Given the description of an element on the screen output the (x, y) to click on. 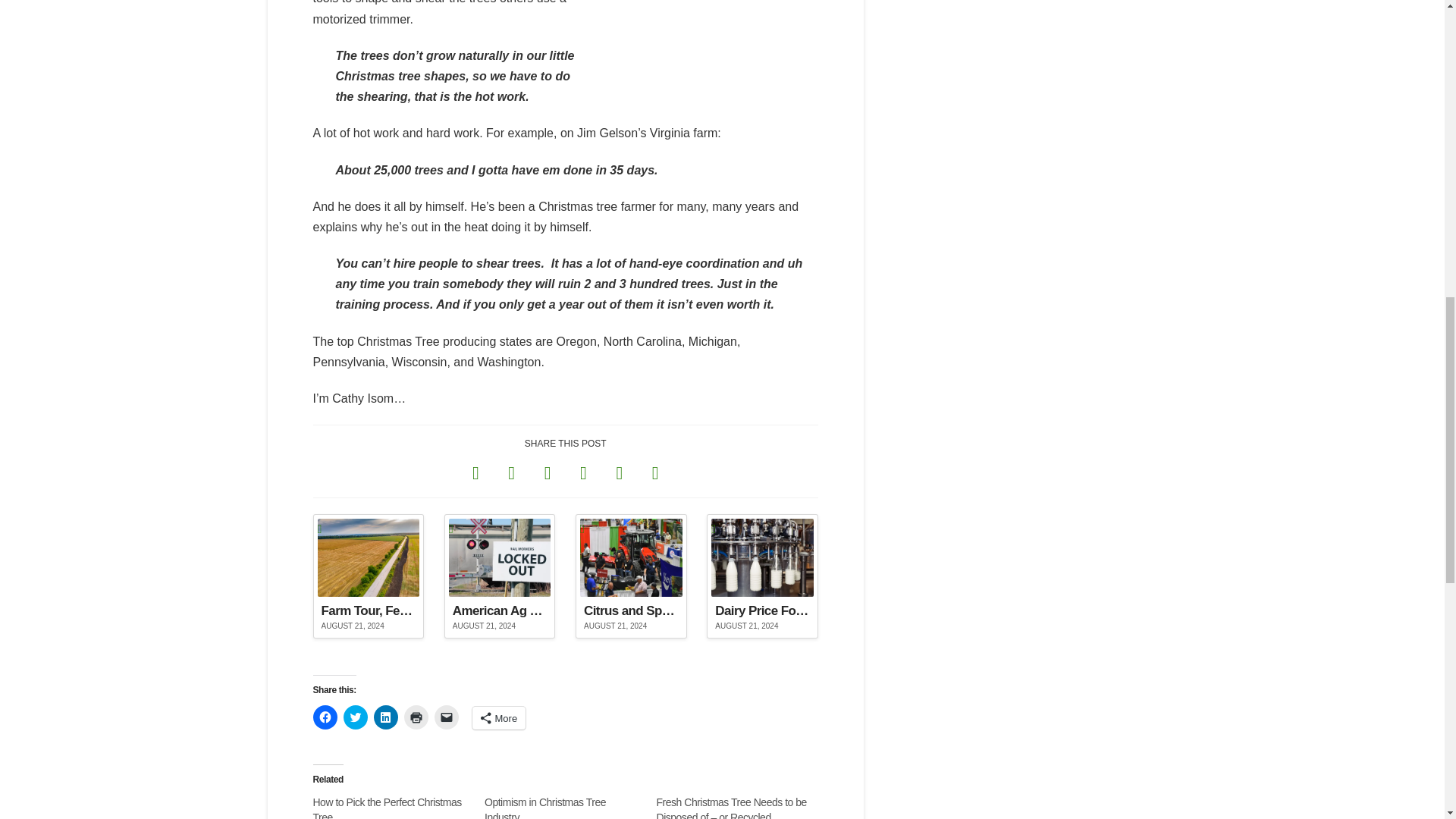
Share on X (511, 472)
Permalink to: "Farm Tour, Fed News" (368, 576)
Share on LinkedIn (547, 472)
Click to share on Facebook (324, 717)
Click to share on LinkedIn (384, 717)
Share via Email (655, 472)
Share on Pinterest (582, 472)
Share on Facebook (475, 472)
